Given the description of an element on the screen output the (x, y) to click on. 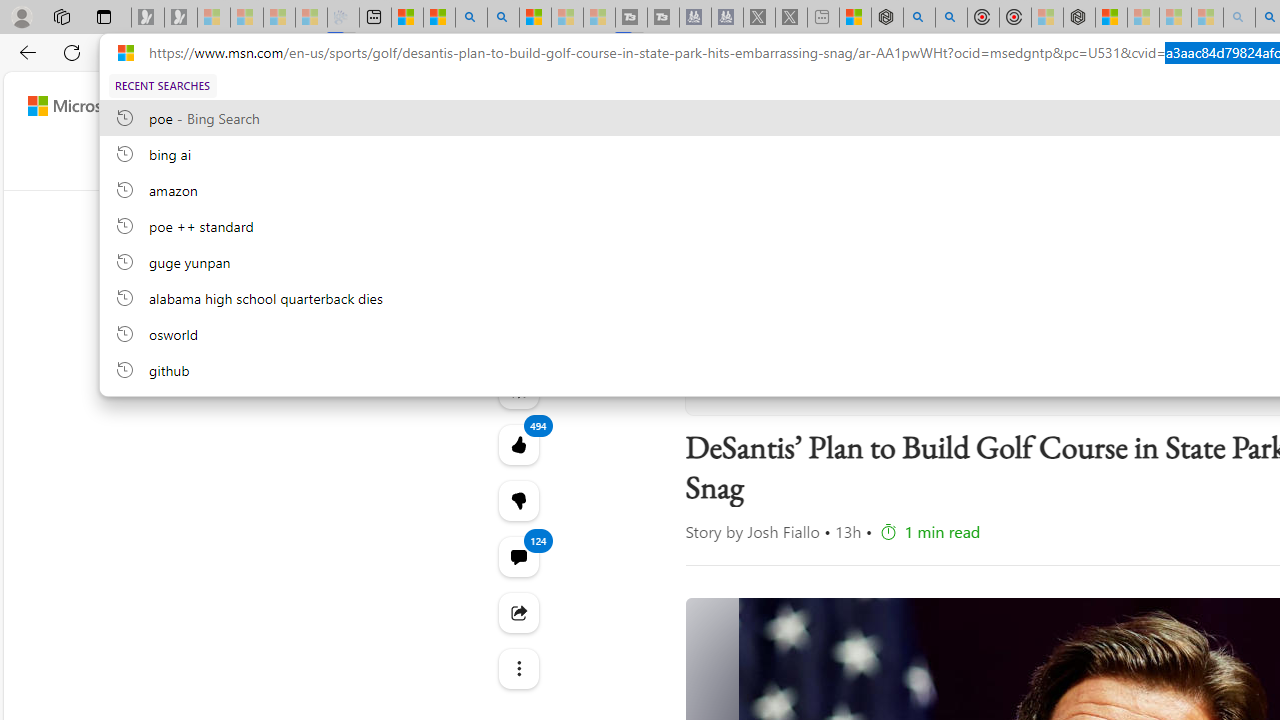
anim-content (983, 255)
NBA (857, 162)
Dislike (517, 500)
Sports (735, 162)
Check Your Personal Offers (1177, 214)
Web search (917, 105)
View comments 124 Comment (517, 556)
